Given the description of an element on the screen output the (x, y) to click on. 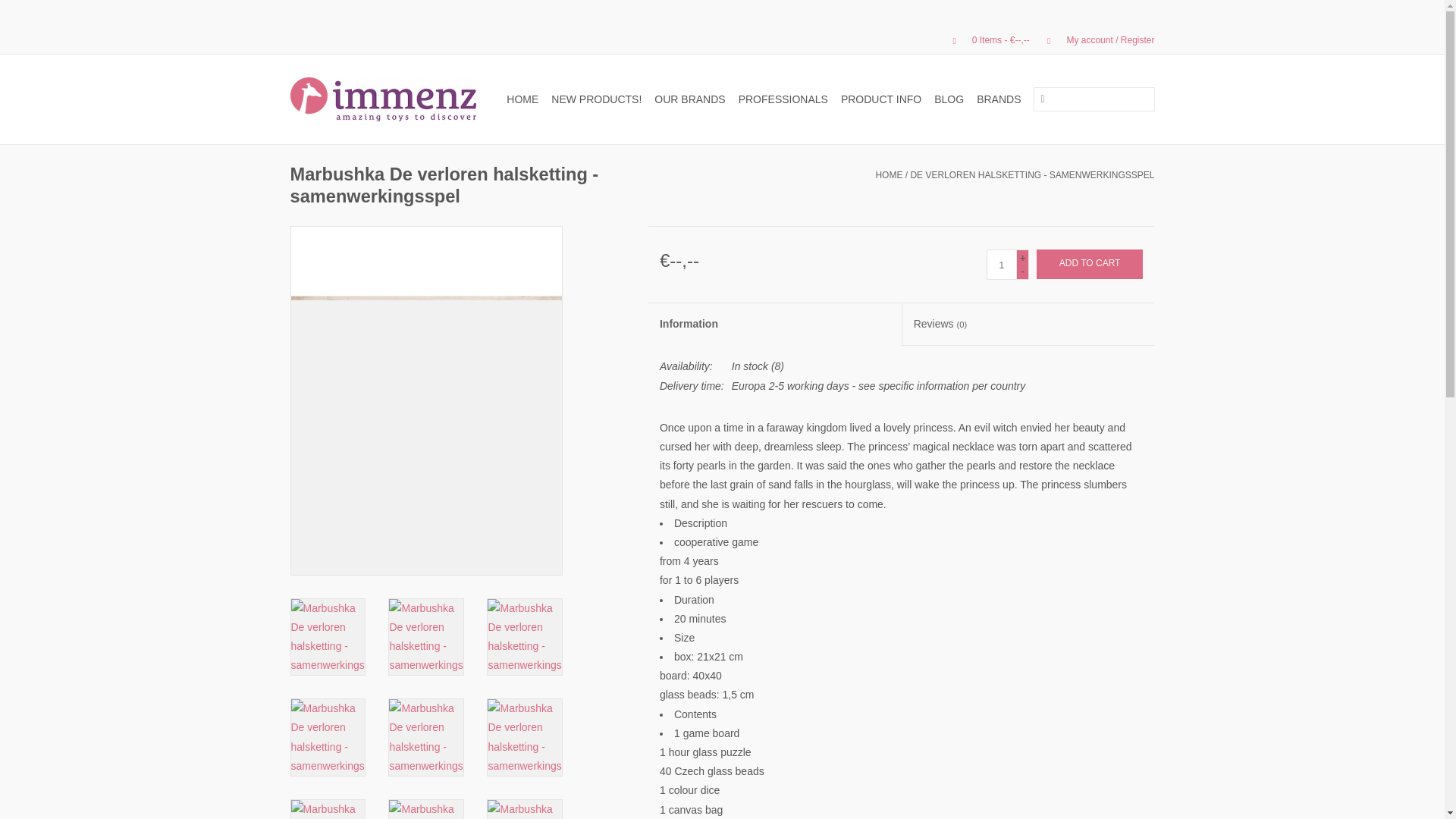
1 (1001, 264)
OUR BRANDS (689, 98)
nl (295, 39)
NEW PRODUCTS! (596, 98)
Nederlands (295, 39)
NEW products! (596, 98)
English (314, 39)
My account (1093, 40)
Cart (984, 40)
en (314, 39)
